Given the description of an element on the screen output the (x, y) to click on. 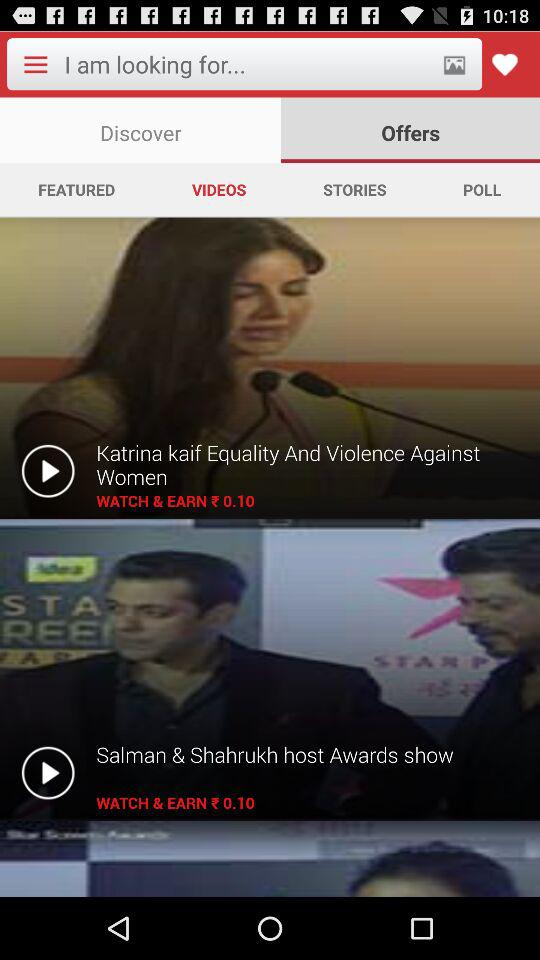
click poll icon (482, 189)
